Given the description of an element on the screen output the (x, y) to click on. 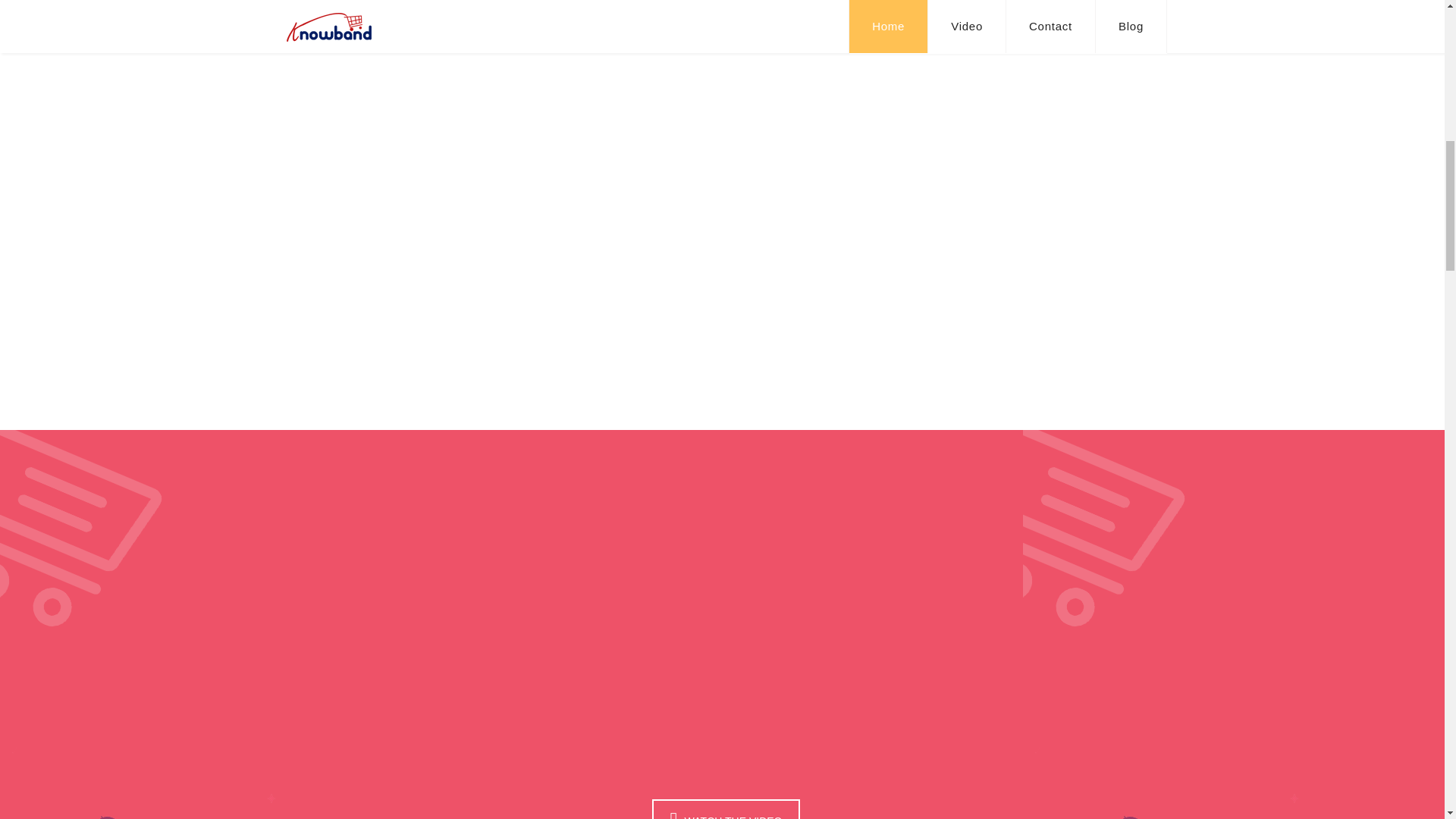
WATCH THE VIDEO (722, 816)
